Given the description of an element on the screen output the (x, y) to click on. 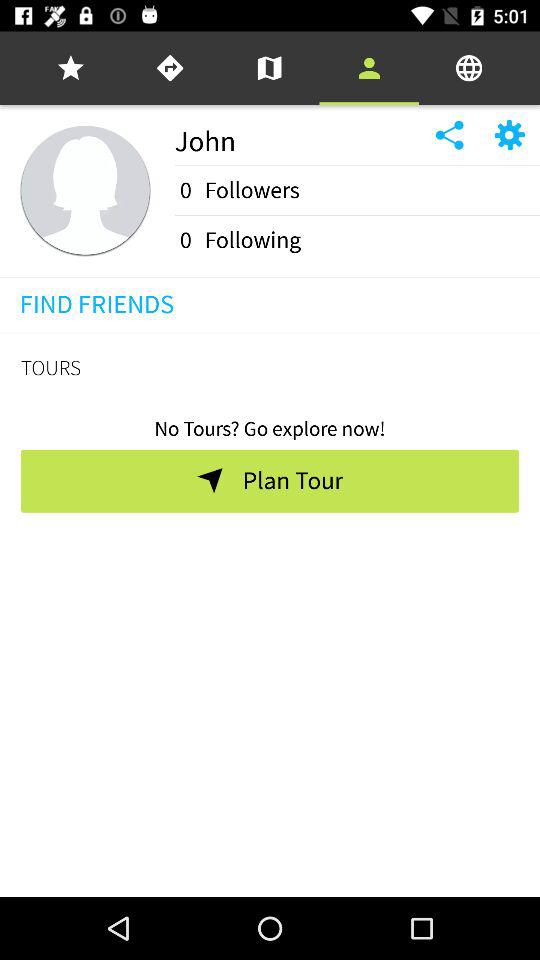
turn on find friends item (96, 304)
